Given the description of an element on the screen output the (x, y) to click on. 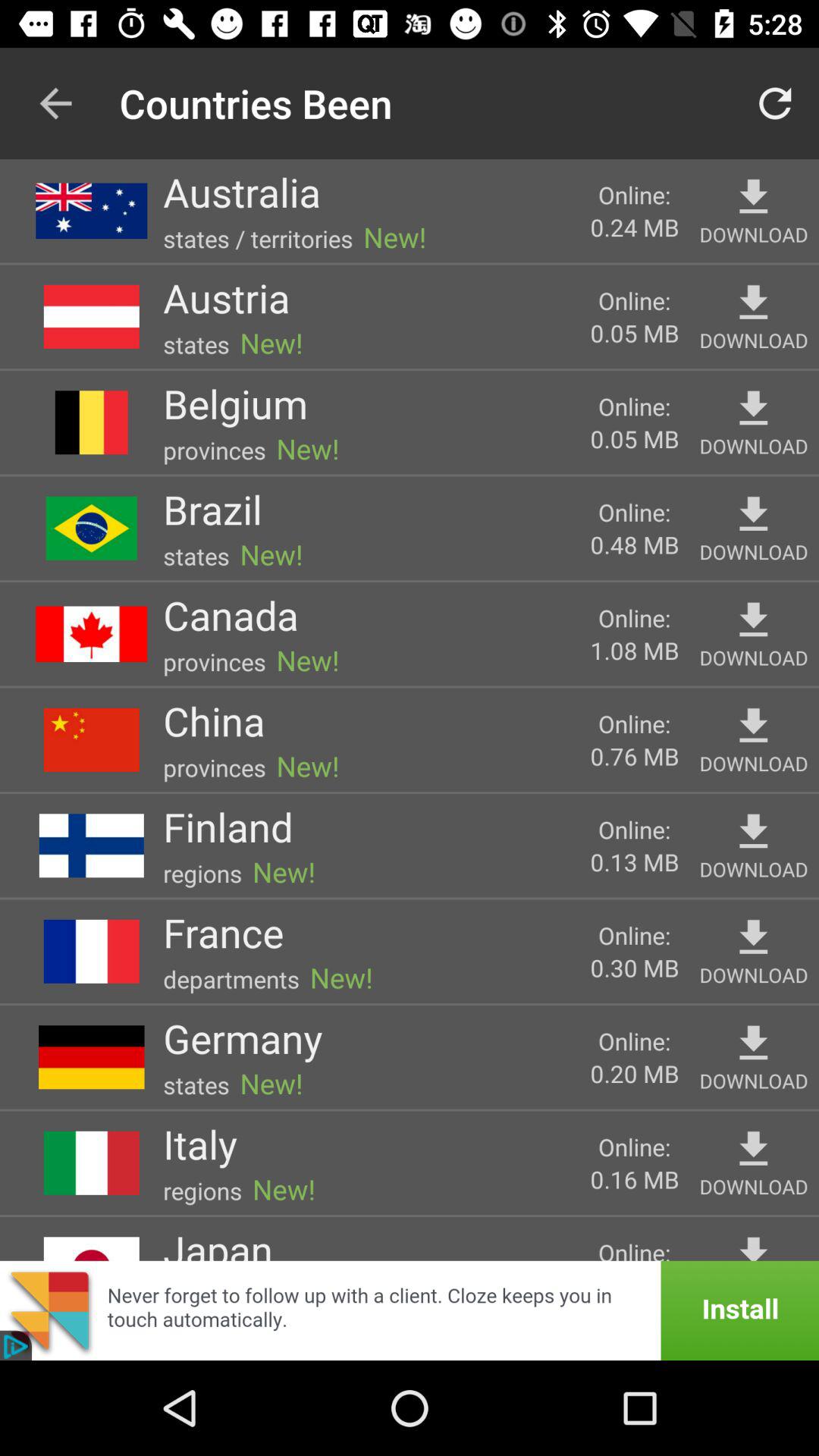
download button (753, 620)
